Given the description of an element on the screen output the (x, y) to click on. 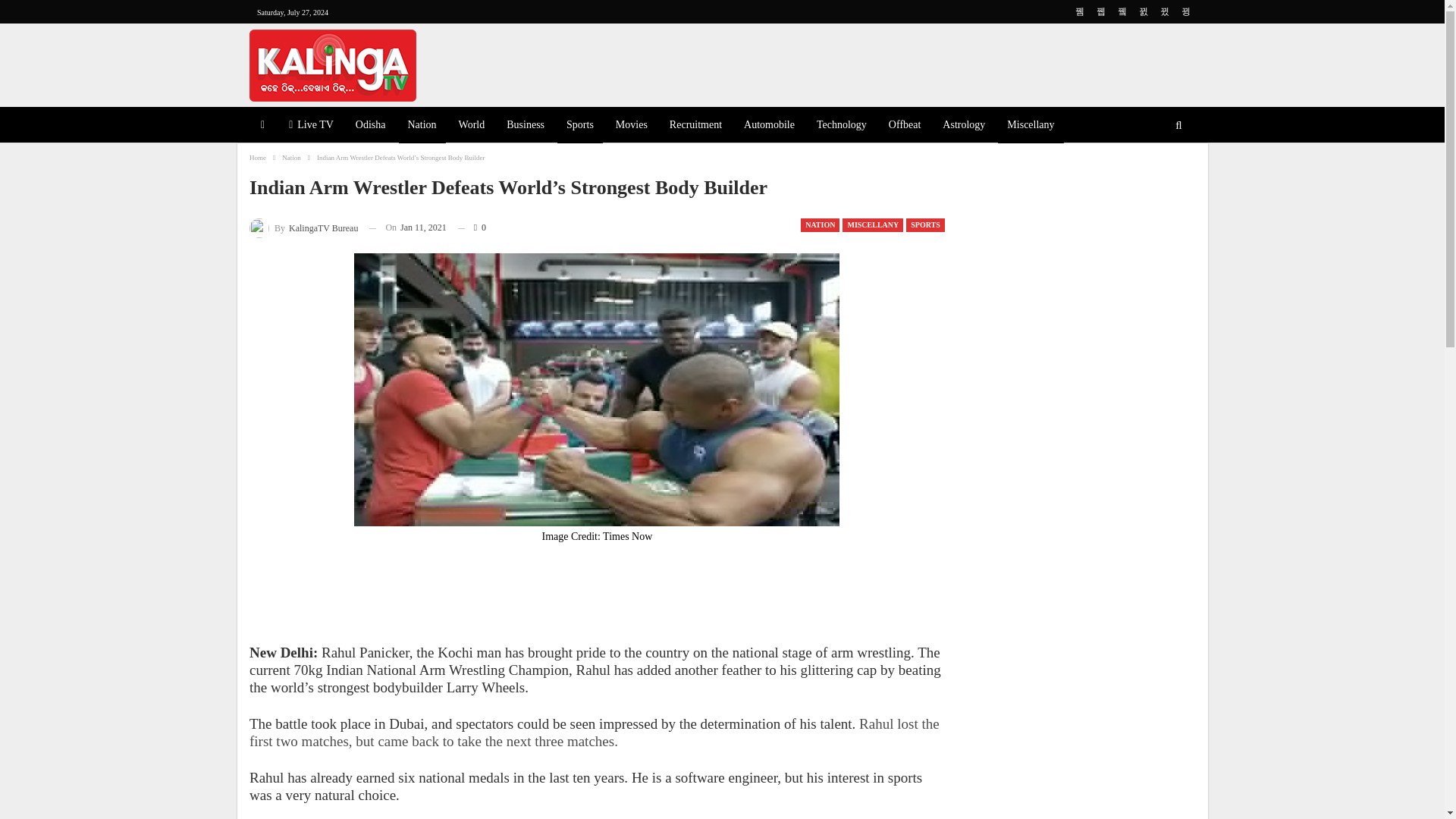
Automobile (769, 126)
Offbeat (904, 126)
Business (525, 126)
Home (257, 157)
NATION (820, 224)
By KalingaTV Bureau (303, 227)
MISCELLANY (872, 224)
Recruitment (695, 126)
Live TV (310, 126)
Astrology (963, 126)
World (472, 126)
Technology (842, 126)
SPORTS (924, 224)
Browse Author Articles (303, 227)
0 (472, 227)
